Given the description of an element on the screen output the (x, y) to click on. 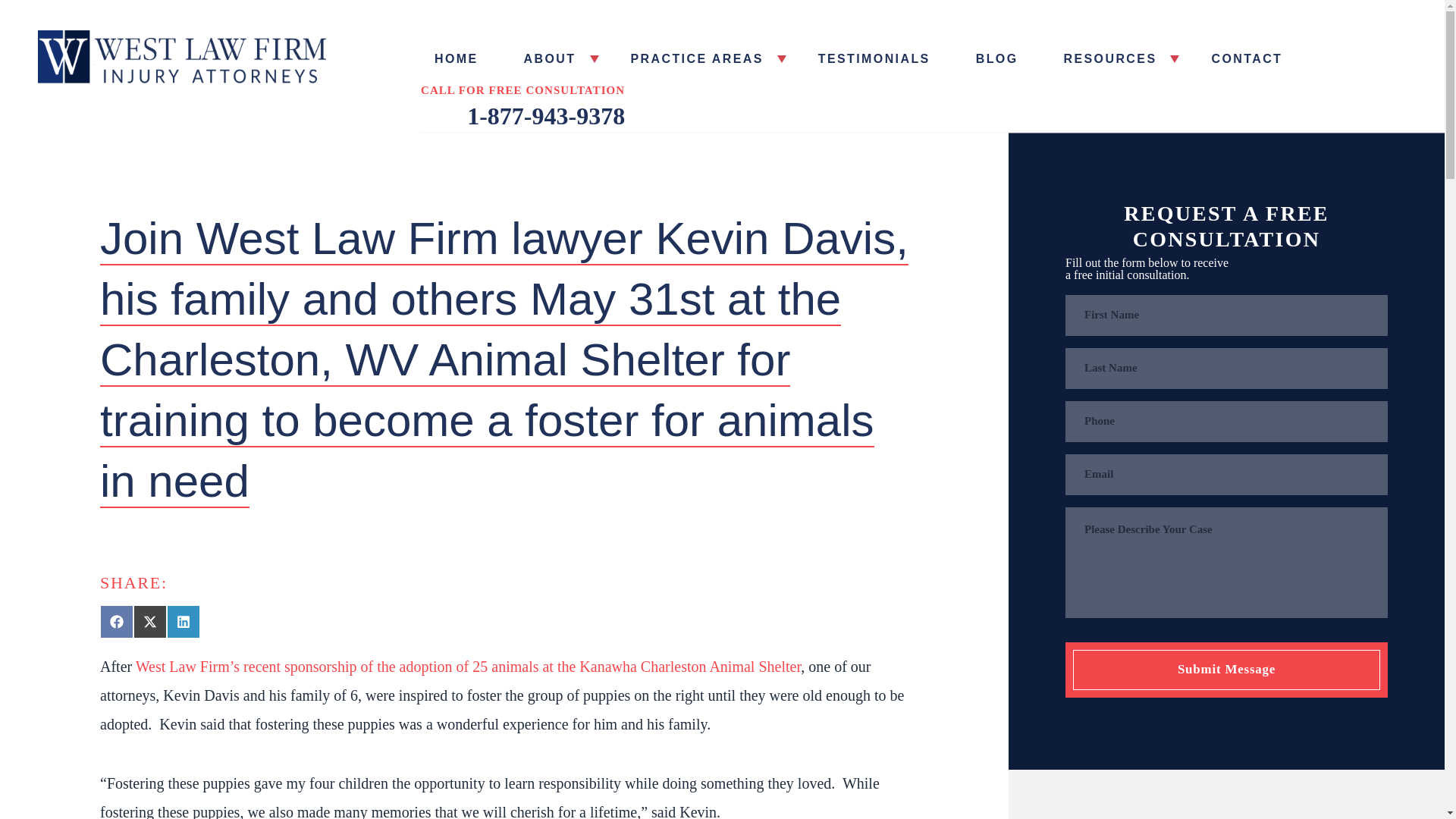
PRACTICE AREAS (701, 58)
Submit Message (1226, 670)
HOME (456, 58)
ABOUT (554, 58)
